Given the description of an element on the screen output the (x, y) to click on. 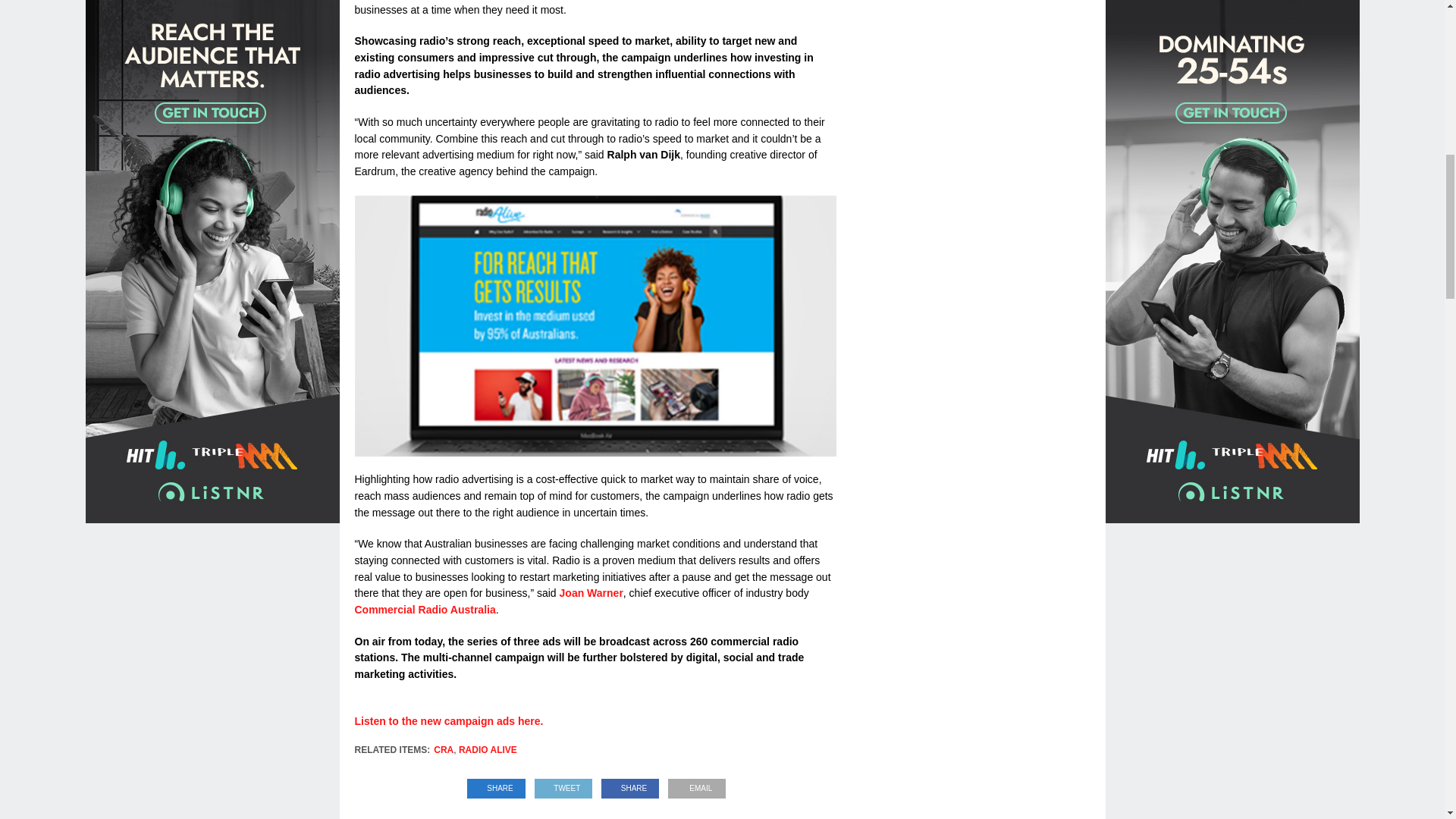
Tweet This Post (563, 784)
3rd party ad content (976, 127)
3rd party ad content (976, 380)
Share on Facebook (630, 784)
Share on LinkedIn (496, 784)
